Given the description of an element on the screen output the (x, y) to click on. 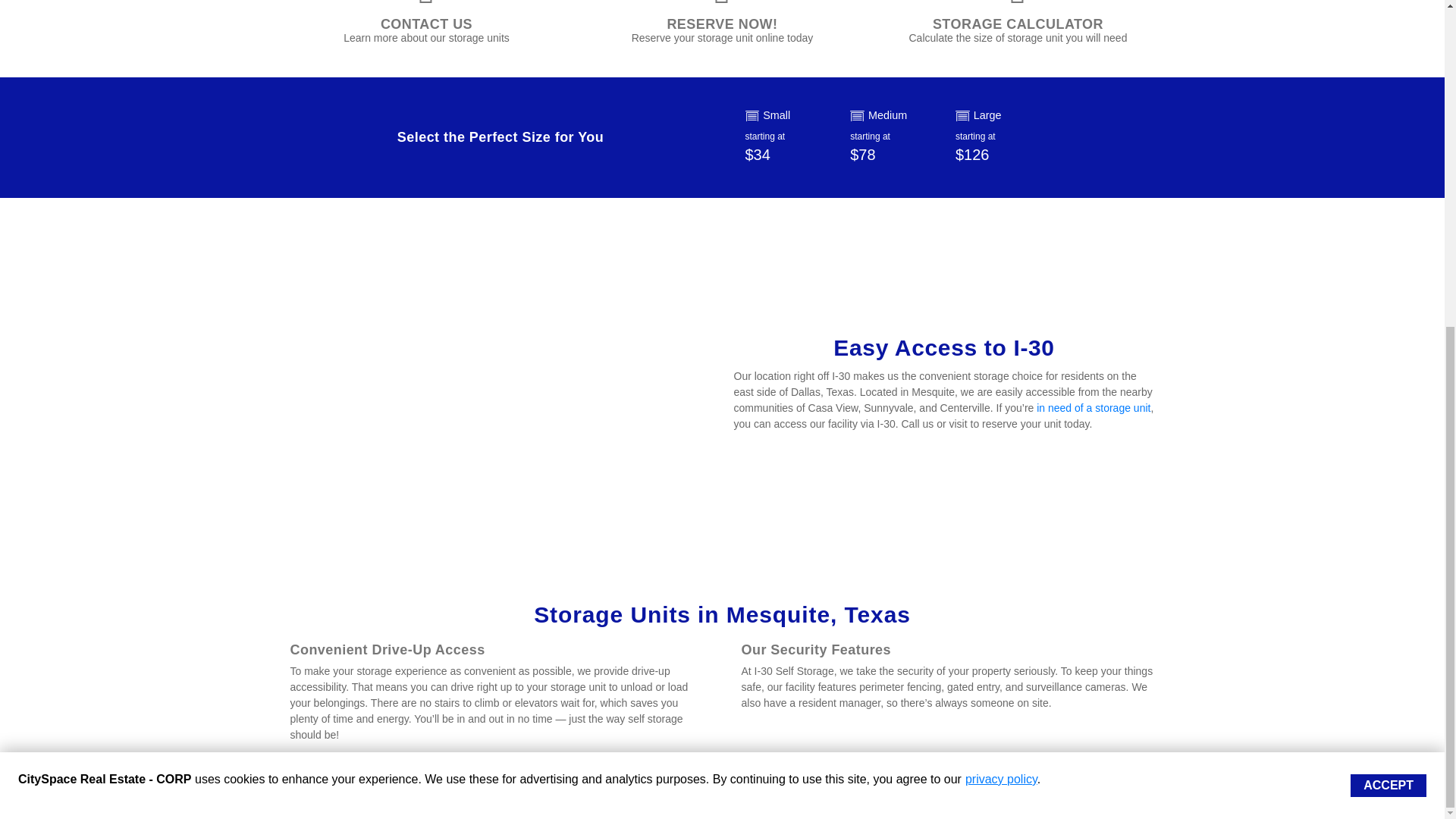
Admin (1138, 796)
STORAGE CALCULATOR (1018, 23)
Privacy (833, 796)
RESERVE NOW! (721, 23)
privacy policy (1000, 241)
Powered by (344, 796)
CONTACT US (425, 23)
in need of a storage unit (1093, 408)
Terms (794, 796)
ACCEPT (1388, 247)
